Given the description of an element on the screen output the (x, y) to click on. 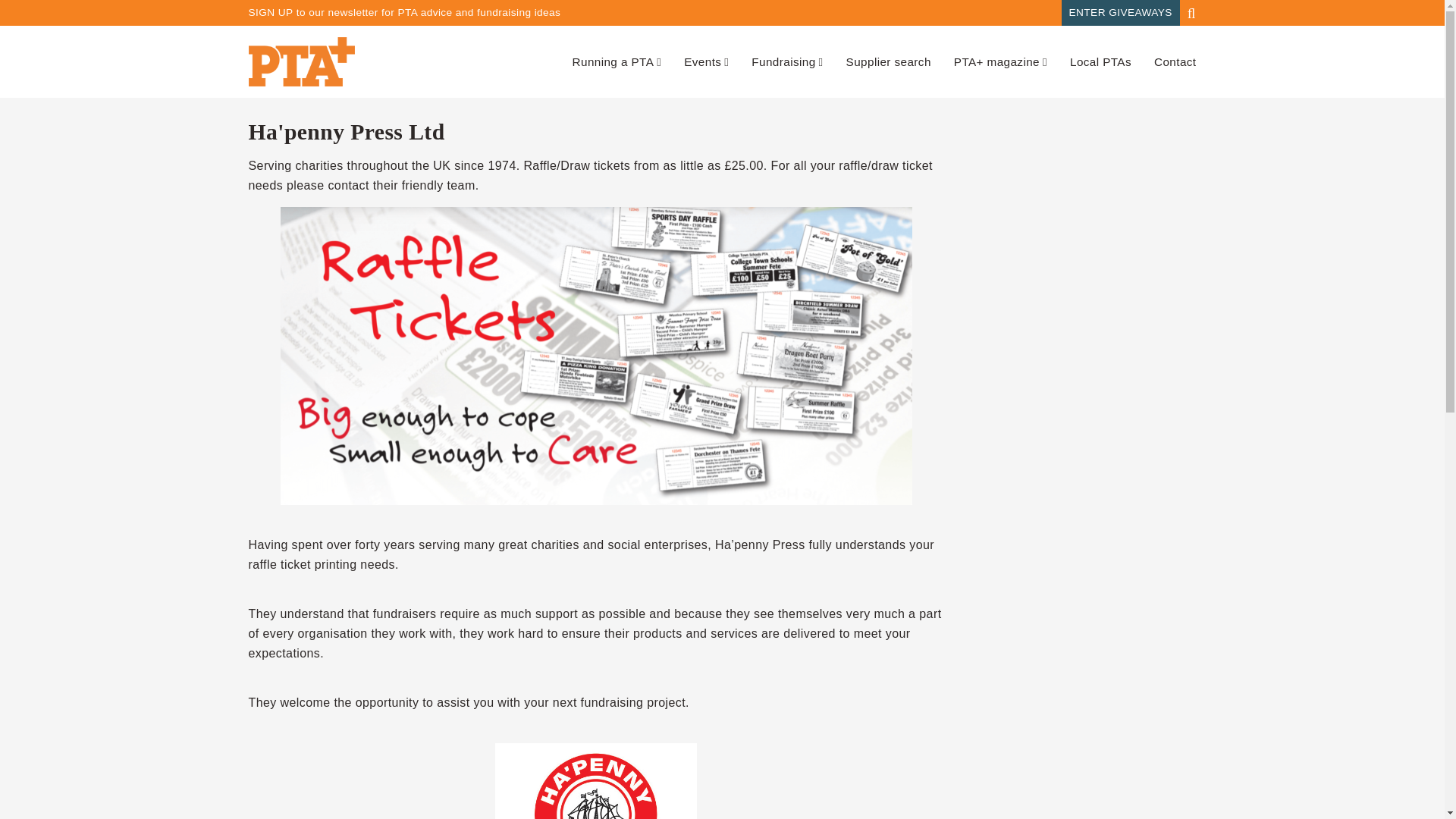
Contact (1174, 61)
Supplier search (888, 61)
Running a PTA (617, 61)
Local PTAs (1100, 61)
Fundraising (786, 61)
Events (706, 61)
ENTER GIVEAWAYS (1120, 12)
